Given the description of an element on the screen output the (x, y) to click on. 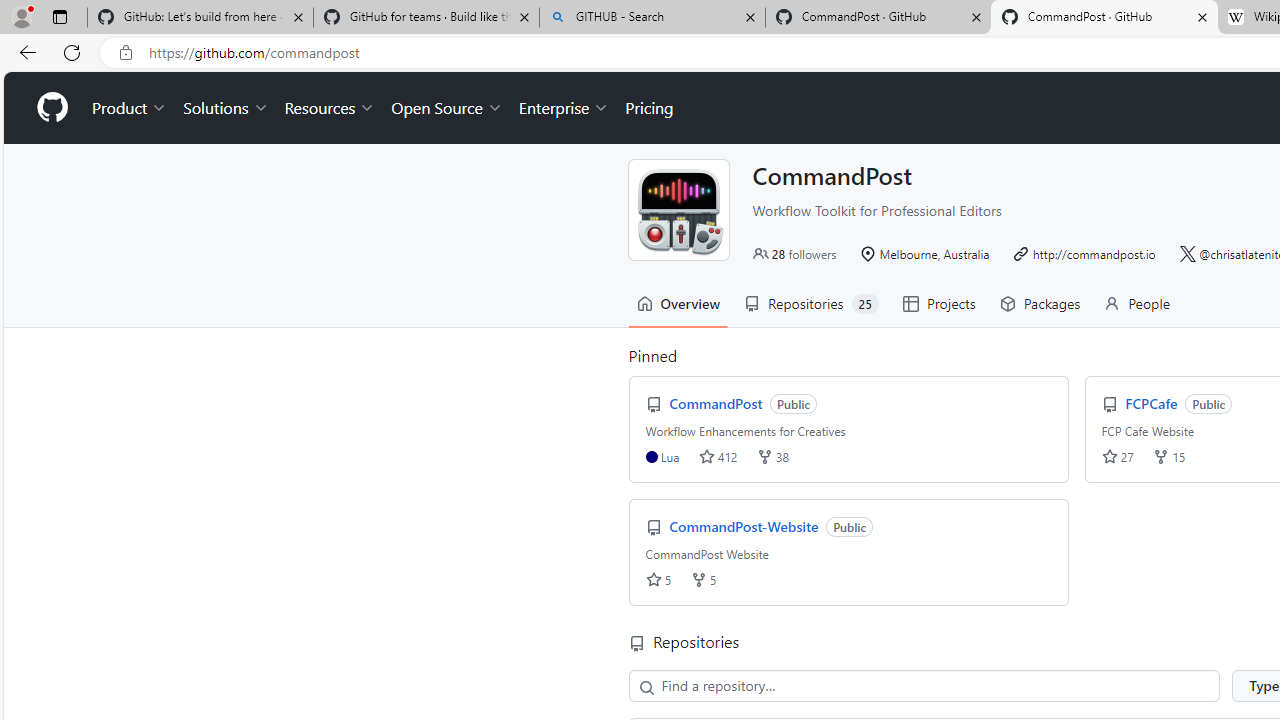
People (1136, 303)
Homepage (51, 107)
Resources (330, 107)
Packages (1039, 303)
Solutions (225, 107)
http://commandpost.io (1083, 254)
28 followers (794, 254)
Product (130, 107)
stars (653, 579)
forks (697, 579)
http://commandpost.io (1093, 254)
